Given the description of an element on the screen output the (x, y) to click on. 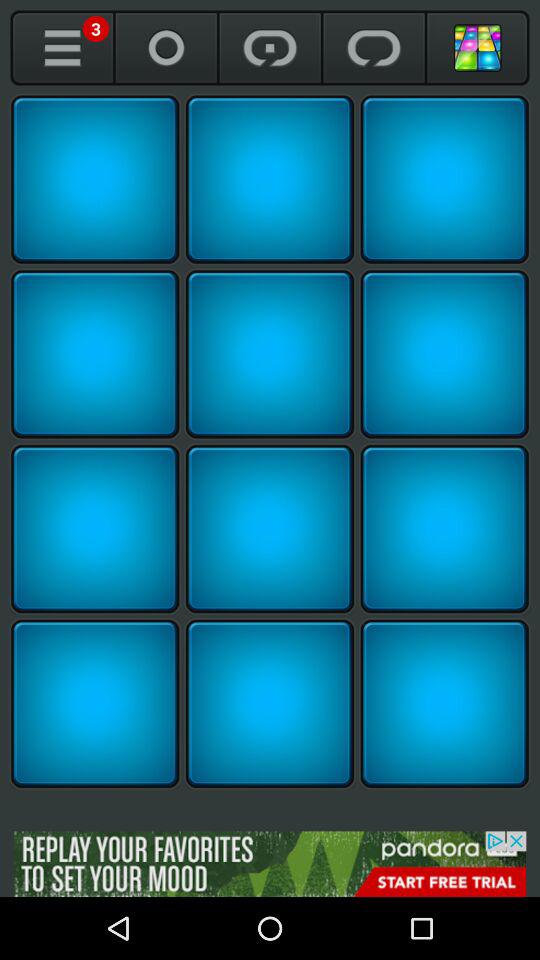
go to home screen (477, 47)
